Given the description of an element on the screen output the (x, y) to click on. 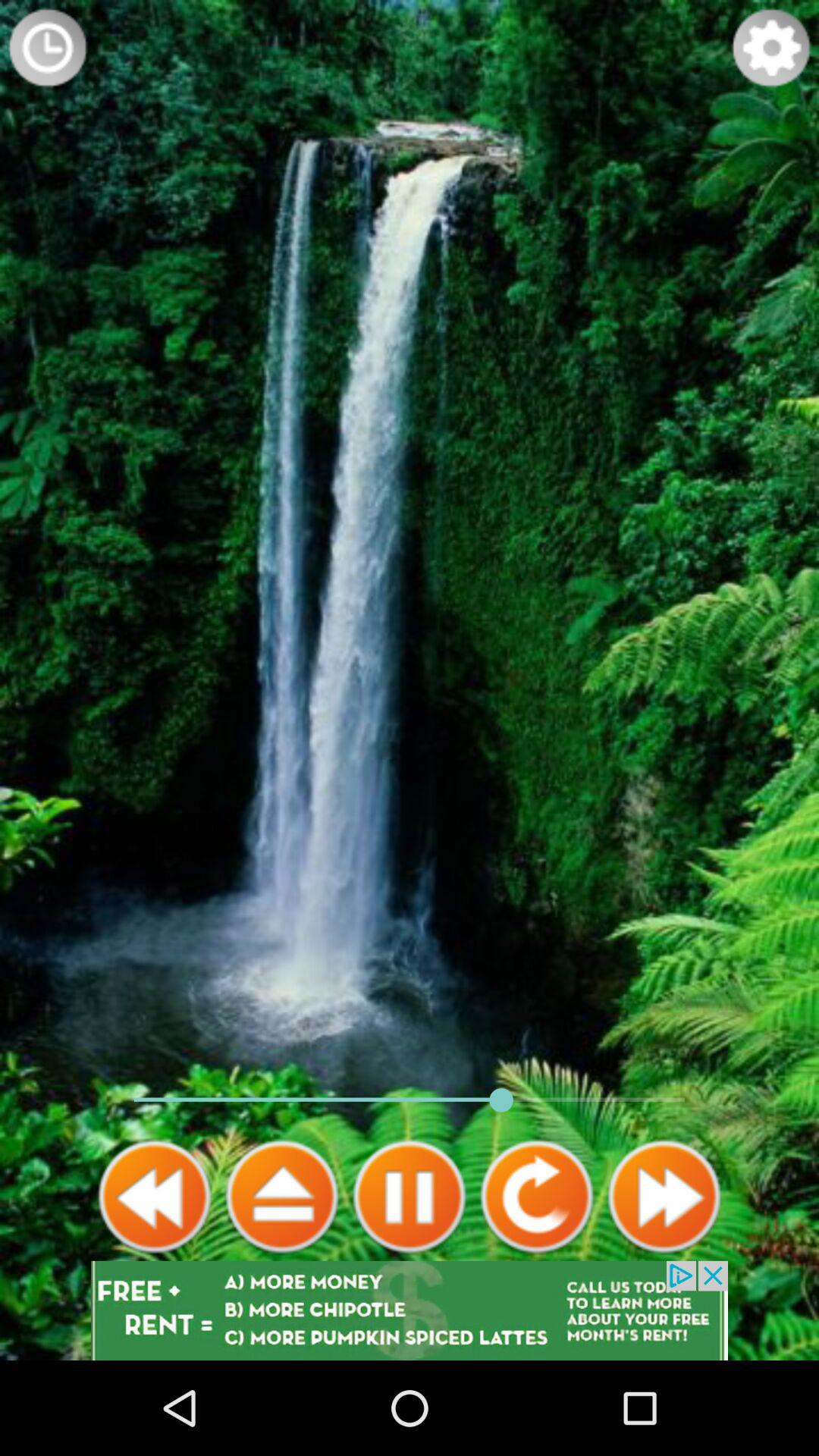
go to next video (281, 1196)
